Given the description of an element on the screen output the (x, y) to click on. 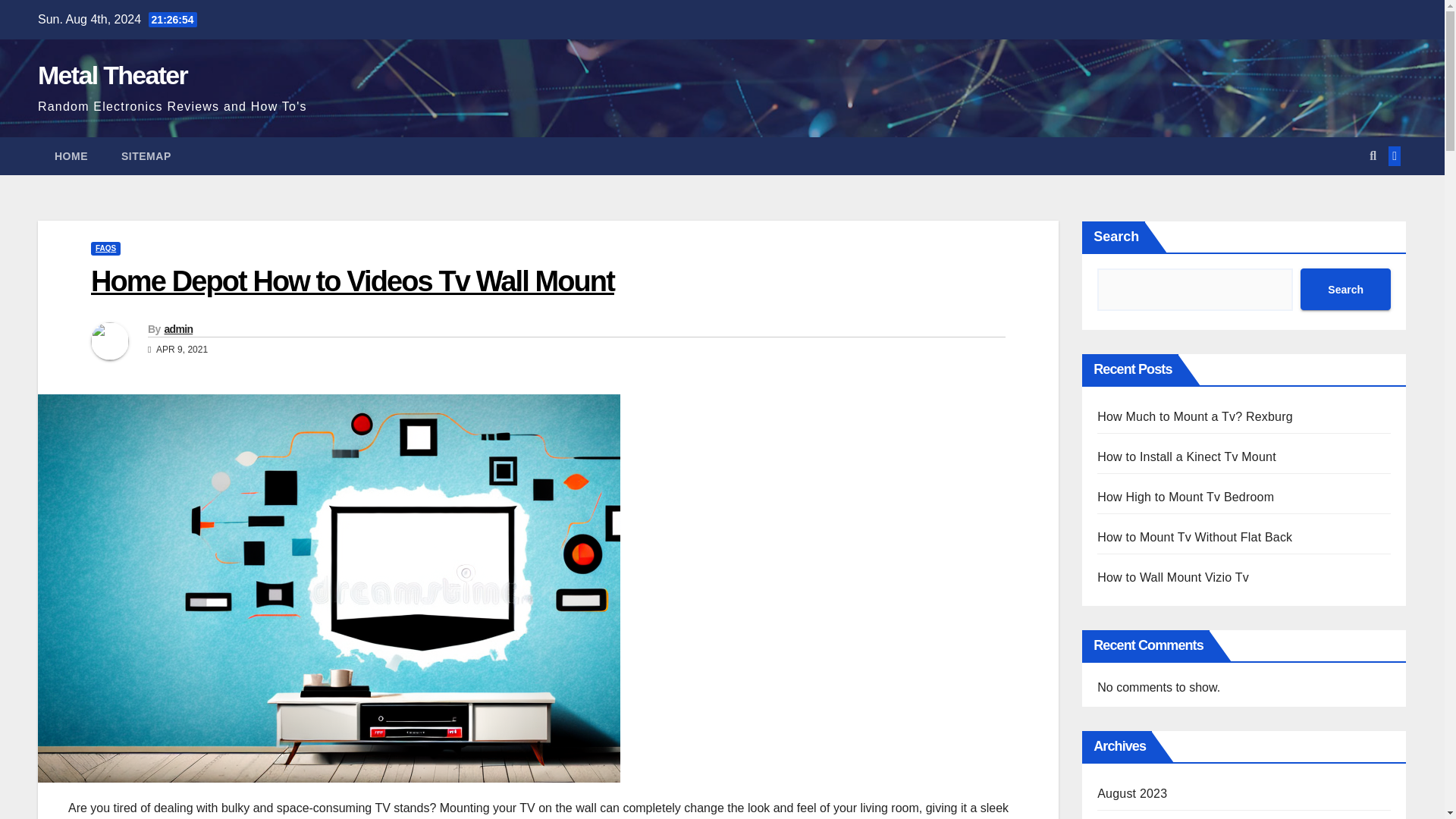
admin (177, 328)
Home Depot How to Videos Tv Wall Mount (352, 281)
SITEMAP (145, 156)
Home (70, 156)
Permalink to: Home Depot How to Videos Tv Wall Mount (352, 281)
HOME (70, 156)
FAQS (105, 248)
Metal Theater (112, 74)
